Given the description of an element on the screen output the (x, y) to click on. 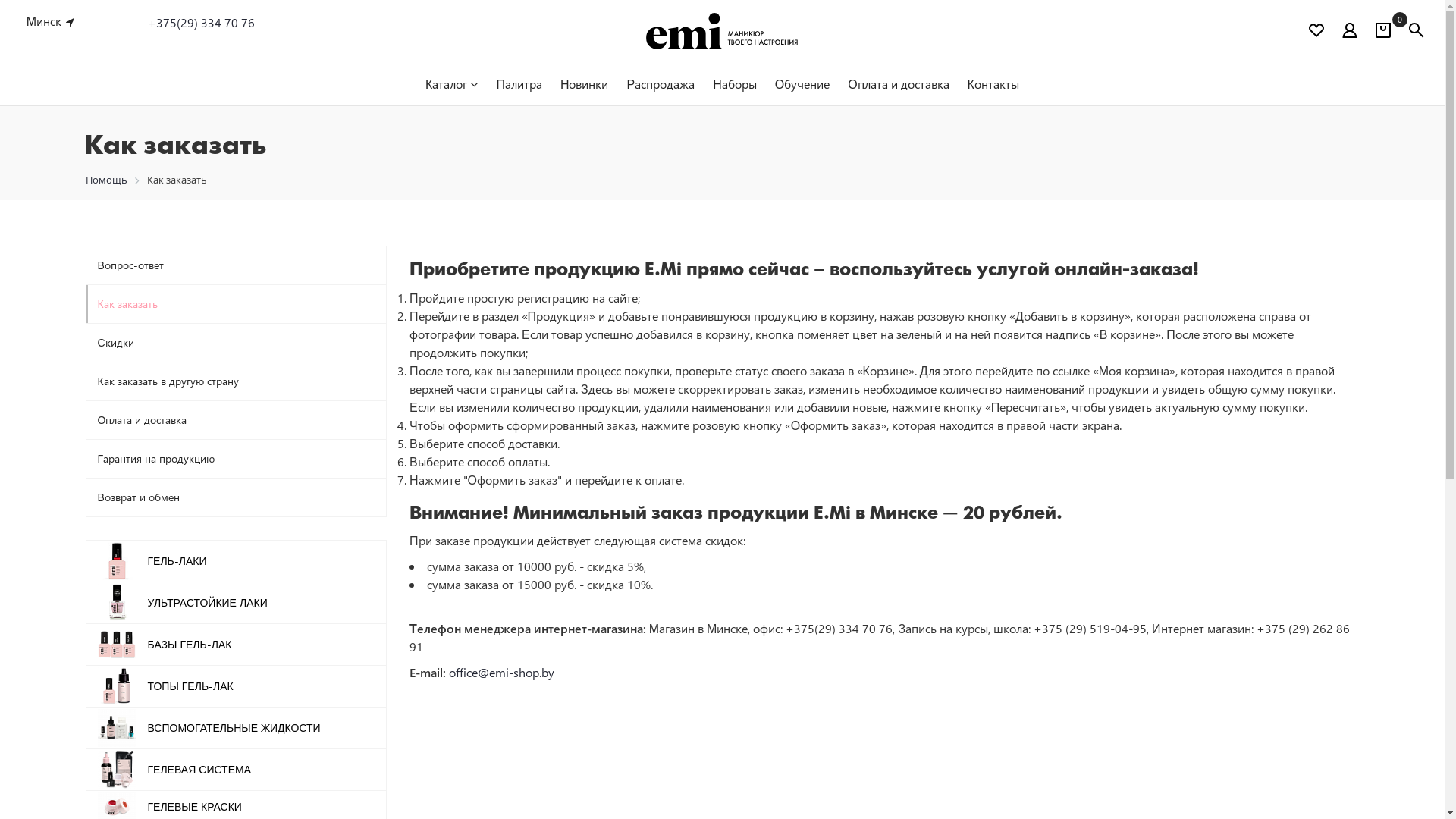
office@emi-shop.by Element type: text (501, 672)
+375(29) 334 70 76 Element type: text (200, 22)
+375(29) 334 70 76 Element type: text (200, 22)
0 Element type: text (1383, 32)
